Given the description of an element on the screen output the (x, y) to click on. 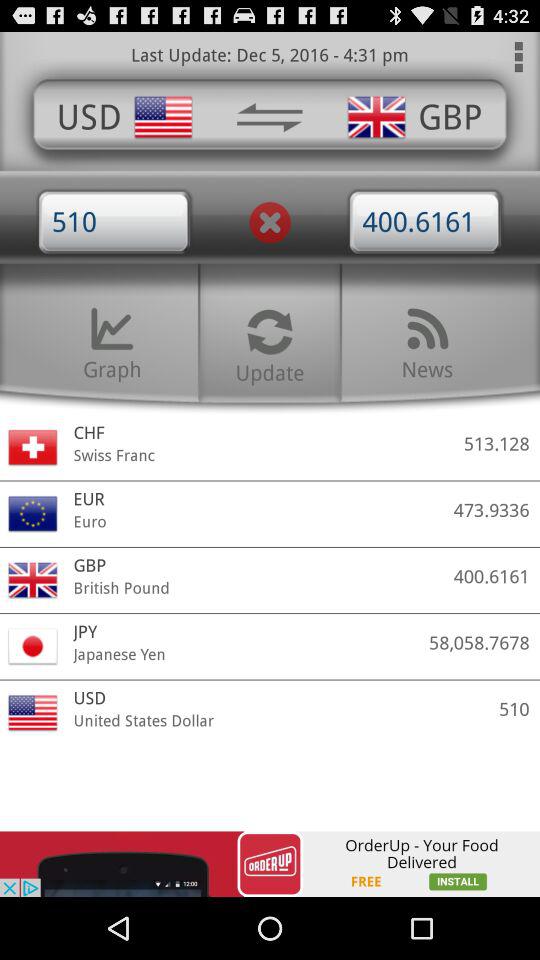
change country option (269, 117)
